Given the description of an element on the screen output the (x, y) to click on. 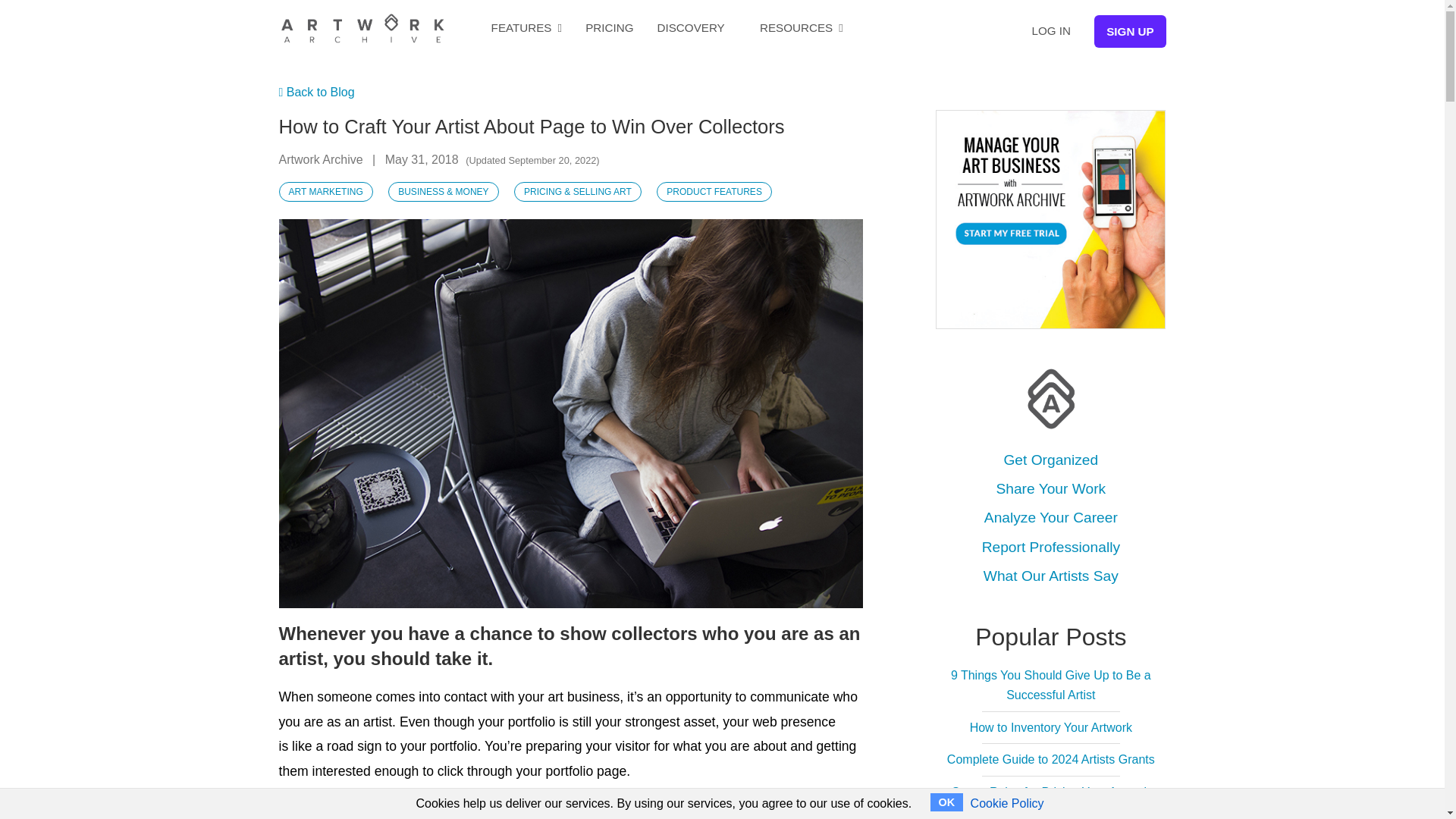
ART MARKETING (325, 191)
LOG IN (1050, 30)
DISCOVERY (691, 27)
RESOURCES (801, 27)
Plans and Pricing (609, 27)
PRICING (609, 27)
FEATURES (527, 27)
PRODUCT FEATURES (713, 191)
Discovery (691, 27)
SIGN UP (1130, 31)
SIGN UP (1130, 31)
Back to Blog (317, 91)
